Given the description of an element on the screen output the (x, y) to click on. 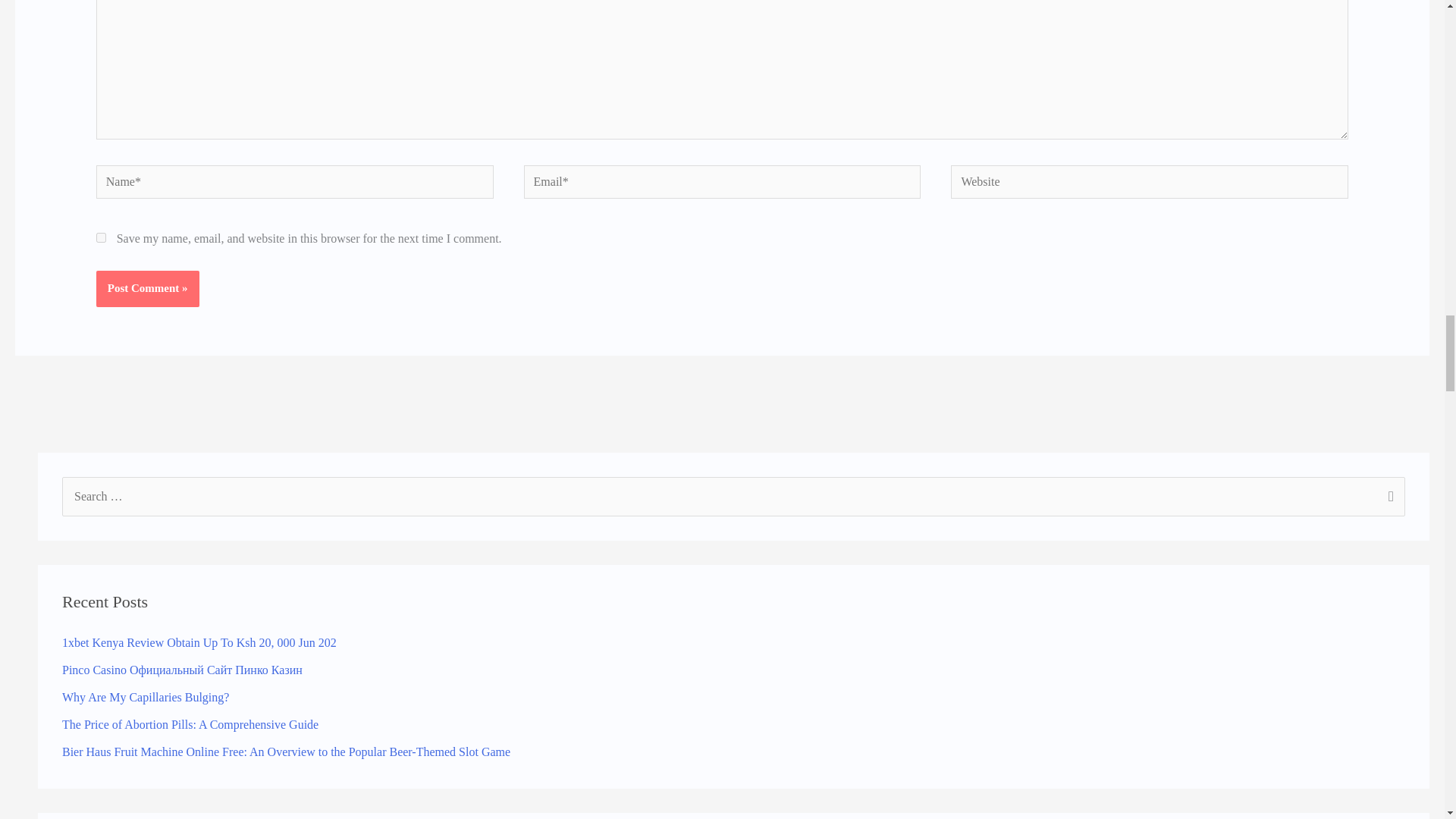
yes (101, 237)
1xbet Kenya Review Obtain Up To Ksh 20, 000 Jun 202 (199, 642)
Why Are My Capillaries Bulging? (145, 697)
The Price of Abortion Pills: A Comprehensive Guide (190, 724)
